Given the description of an element on the screen output the (x, y) to click on. 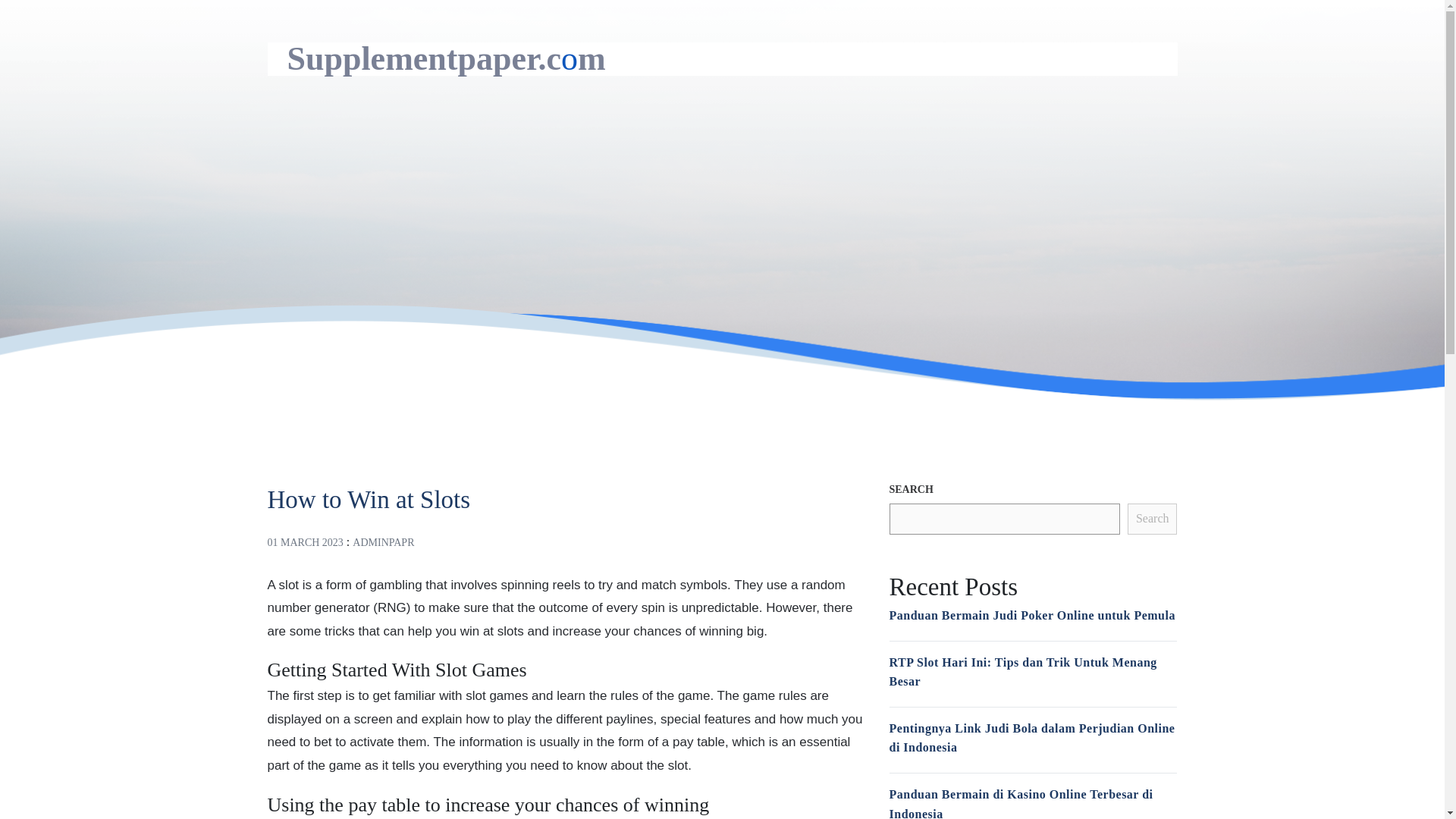
ADMINPAPR (382, 542)
Panduan Bermain Judi Poker Online untuk Pemula (1031, 615)
01 MARCH 2023 (304, 542)
Search (1151, 518)
Supplementpaper.com (445, 58)
RTP Slot Hari Ini: Tips dan Trik Untuk Menang Besar (1022, 672)
Panduan Bermain di Kasino Online Terbesar di Indonesia (1020, 803)
